Given the description of an element on the screen output the (x, y) to click on. 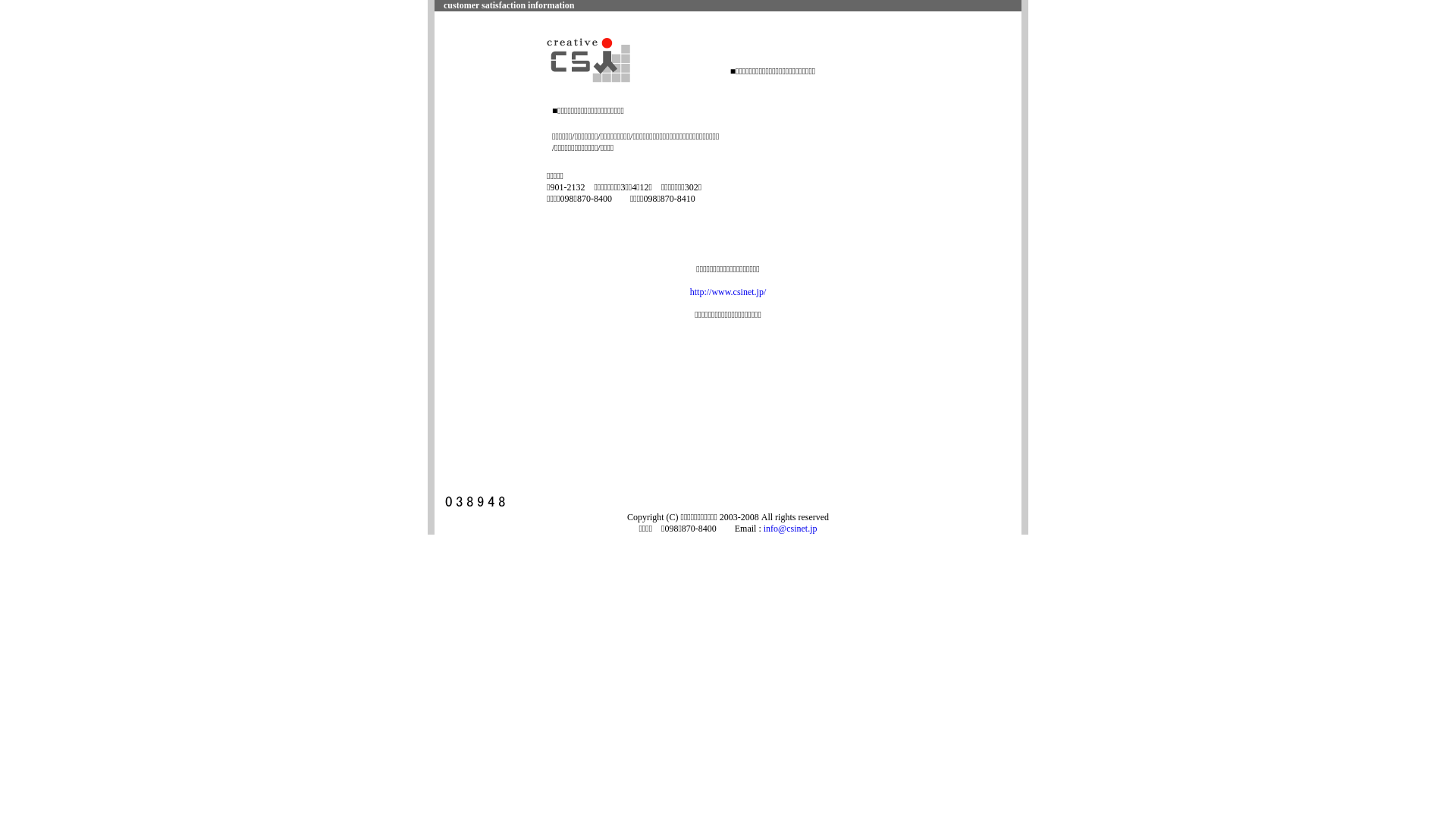
http://www.csinet.jp/ Element type: text (728, 291)
info@csinet.jp Element type: text (790, 528)
